Given the description of an element on the screen output the (x, y) to click on. 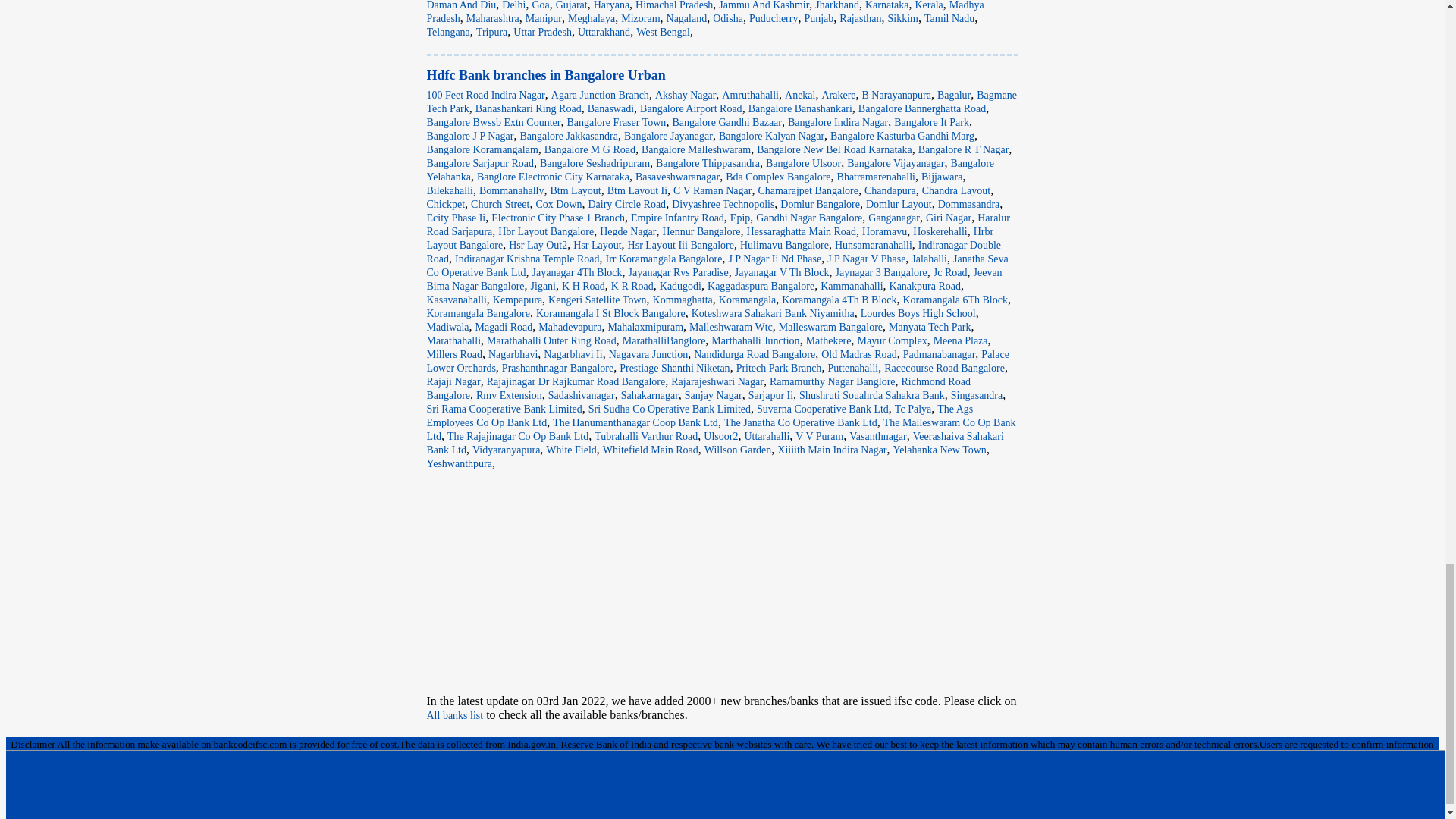
Goa (539, 5)
Jharkhand (837, 5)
Maharashtra (492, 18)
Madhya Pradesh (705, 12)
Mizoram (640, 18)
Himachal Pradesh (673, 5)
Meghalaya (590, 18)
Daman And Diu (461, 5)
Delhi (513, 5)
Jammu And Kashmir (764, 5)
